Given the description of an element on the screen output the (x, y) to click on. 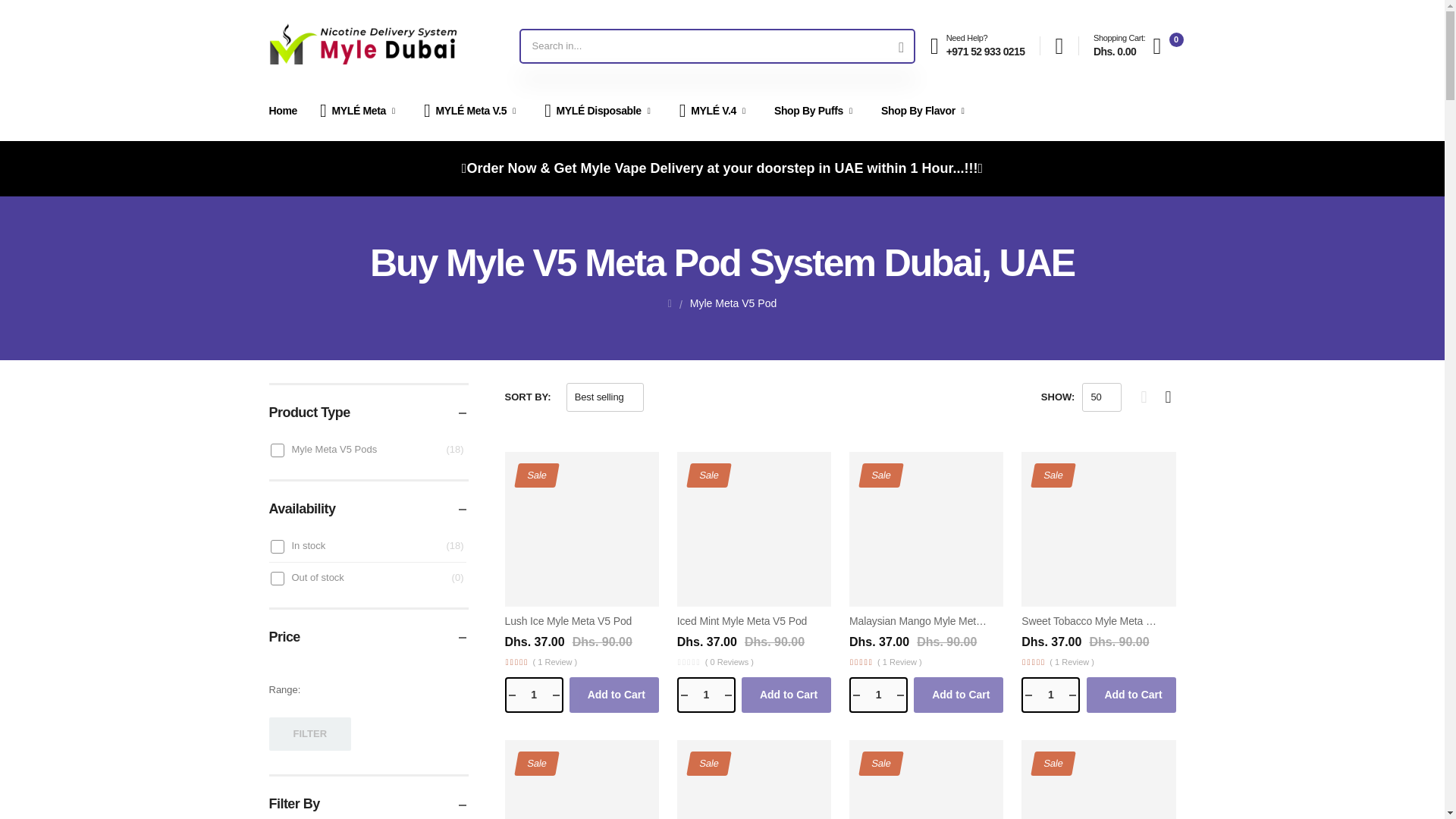
Myle Meta V5 Pods (276, 450)
Shop By Flavor (925, 110)
Lush Ice Myle Meta V5 Pod (1128, 45)
Shop By Puffs (582, 529)
1 (816, 110)
Iced Mint Myle Meta V5 Pod (1051, 694)
Malaysian Mango Myle Meta V5 Pod (754, 529)
5.0 (925, 529)
1 (516, 661)
